Given the description of an element on the screen output the (x, y) to click on. 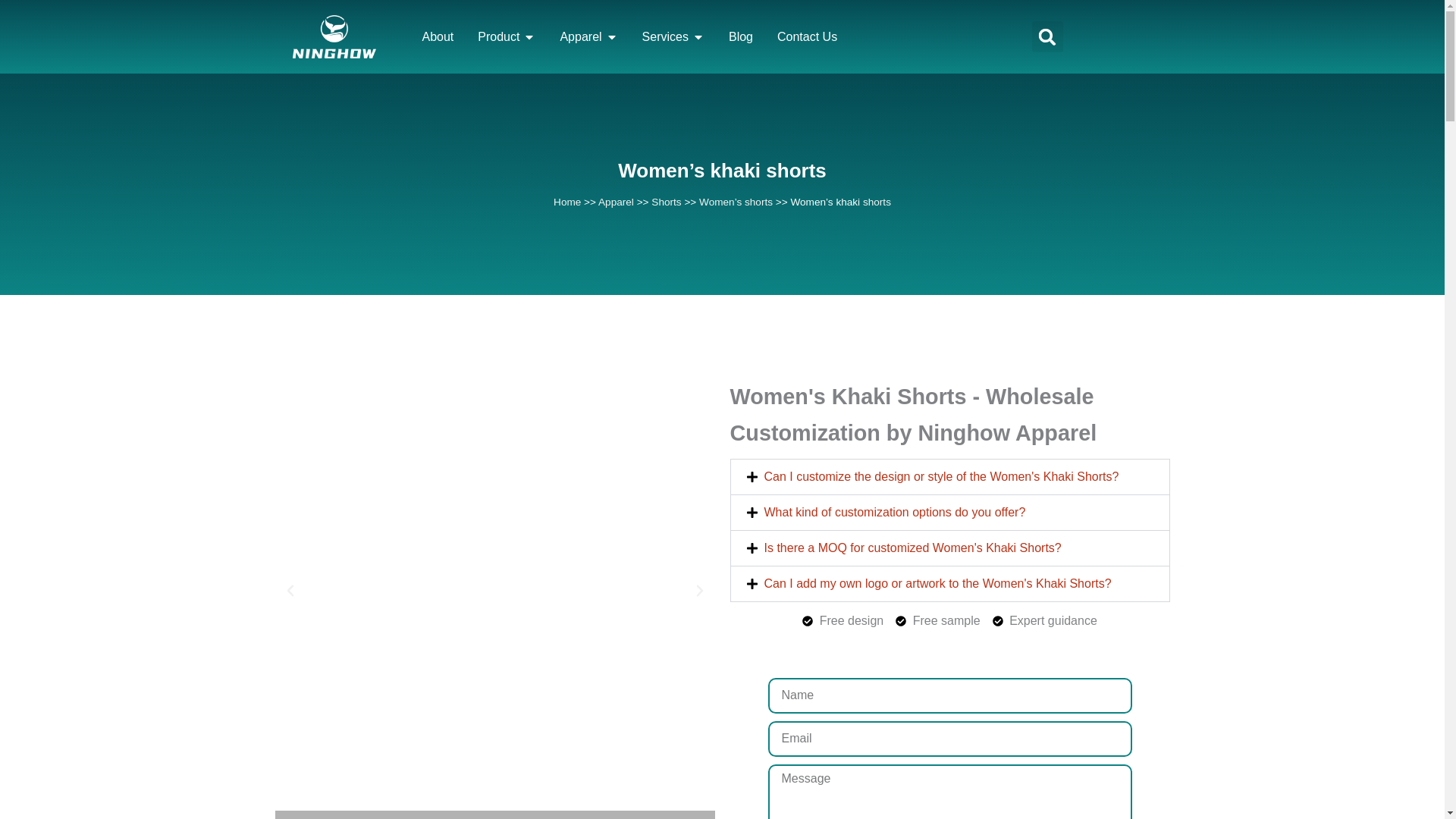
About (437, 36)
Apparel (580, 36)
Blog (740, 36)
Services (665, 36)
